Given the description of an element on the screen output the (x, y) to click on. 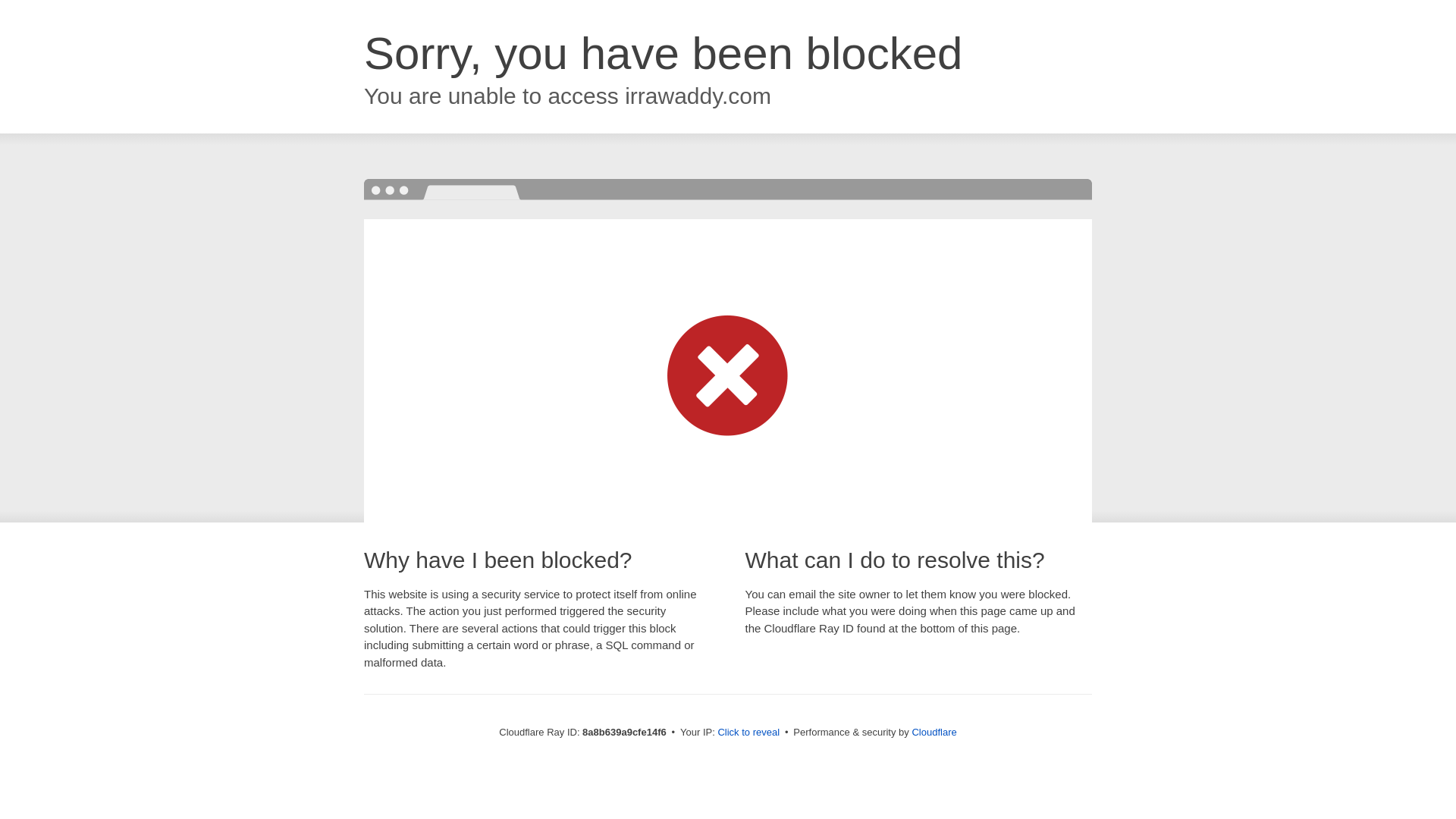
Click to reveal (747, 732)
Cloudflare (933, 731)
